Given the description of an element on the screen output the (x, y) to click on. 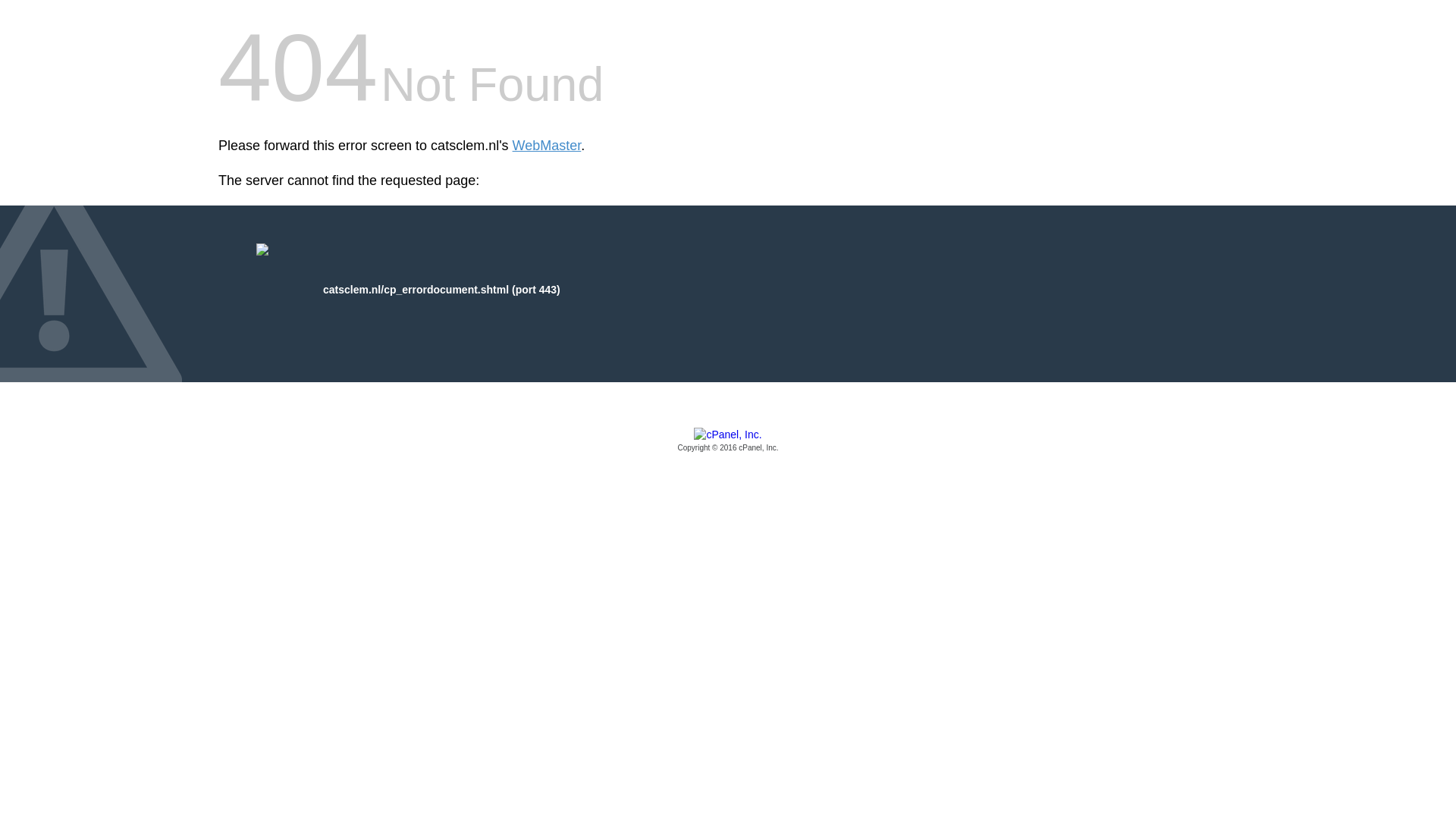
WebMaster (546, 145)
cPanel, Inc. (727, 440)
